Given the description of an element on the screen output the (x, y) to click on. 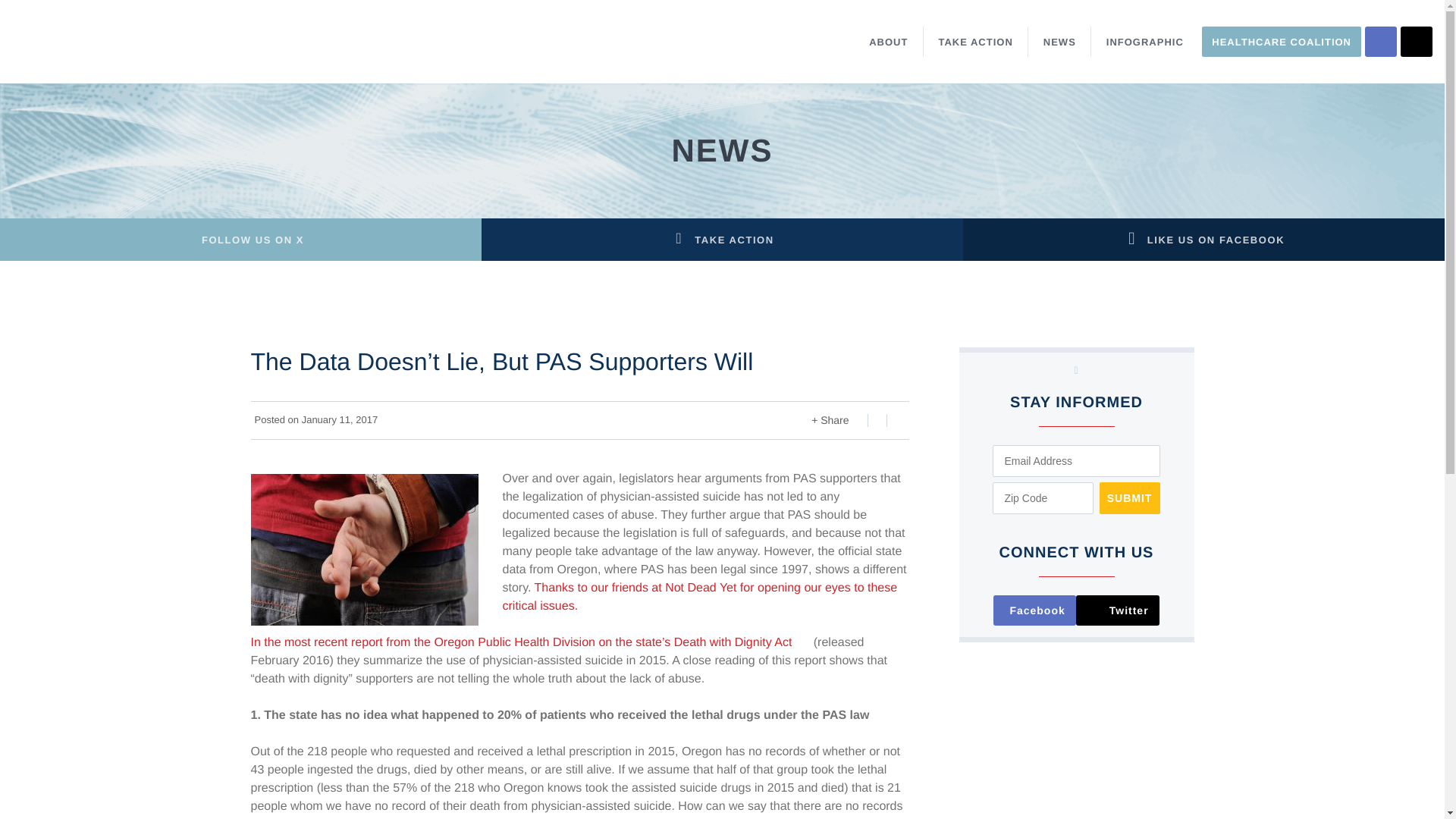
Follow us on Twitter (1116, 610)
NEWS (1058, 41)
INFOGRAPHIC (1144, 41)
TAKE ACTION (975, 41)
Maryland Against Physician Assisted Suicide (149, 41)
TAKE ACTION (721, 239)
ABOUT (888, 41)
HEALTHCARE COALITION (1281, 41)
Facebook (1033, 610)
